Given the description of an element on the screen output the (x, y) to click on. 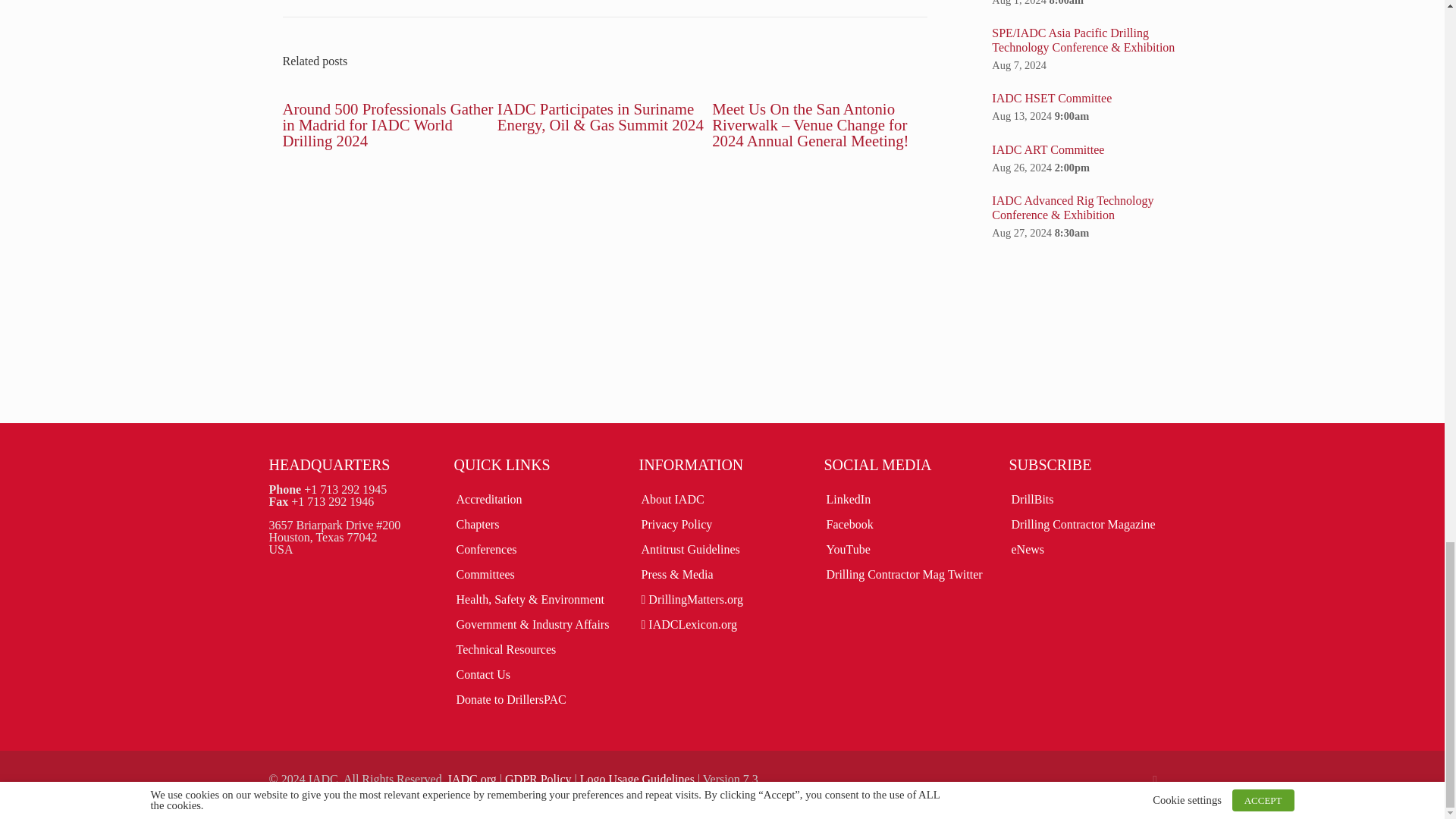
International Association of Drilling Contractors (472, 779)
RSS (1155, 779)
